Given the description of an element on the screen output the (x, y) to click on. 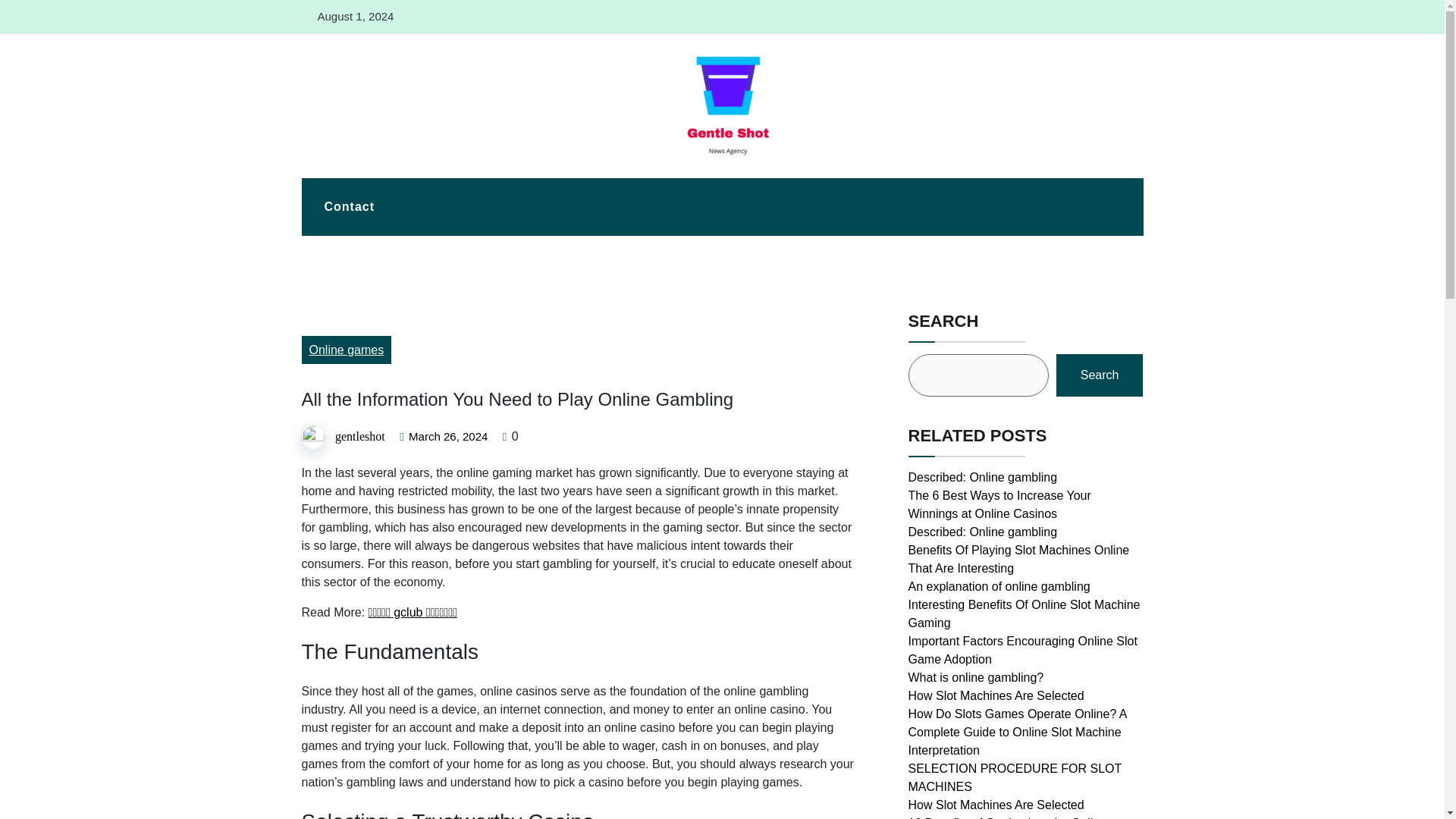
How Slot Machines Are Selected (996, 804)
Described: Online gambling (983, 477)
What is online gambling? (975, 676)
March 26, 2024 (448, 436)
Gentle Shot (345, 170)
An explanation of online gambling (999, 585)
The 6 Best Ways to Increase Your Winnings at Online Casinos (999, 504)
Gentle Shot (345, 170)
gentleshot (359, 436)
10 Benefits of Getting into the Online Casino Business (1007, 817)
SELECTION PROCEDURE FOR SLOT MACHINES (1015, 777)
Search (1099, 374)
How Slot Machines Are Selected (996, 695)
